Given the description of an element on the screen output the (x, y) to click on. 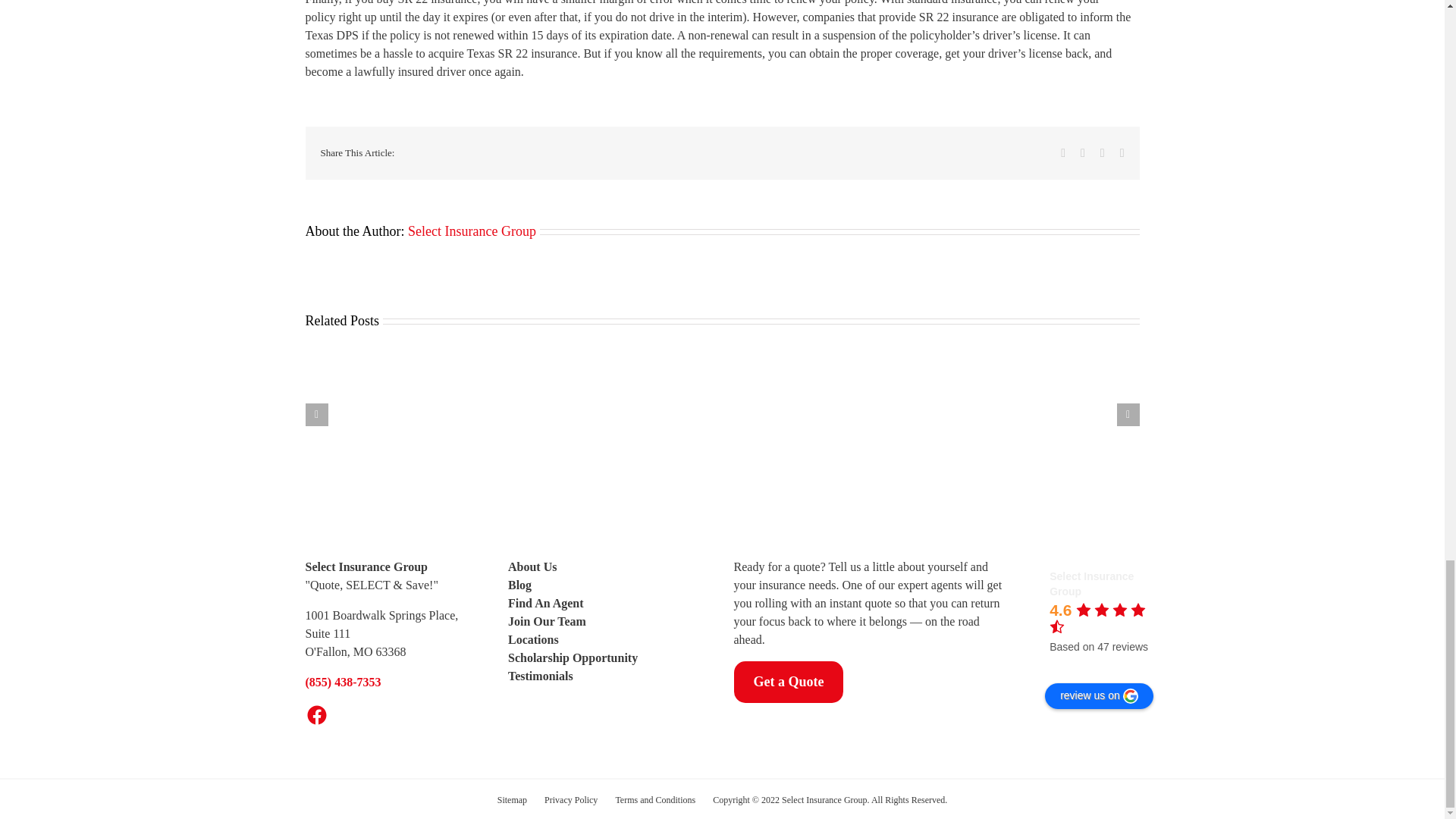
powered by Google (1103, 665)
Posts by Select Insurance Group (471, 231)
Select Insurance Group (1023, 587)
